Given the description of an element on the screen output the (x, y) to click on. 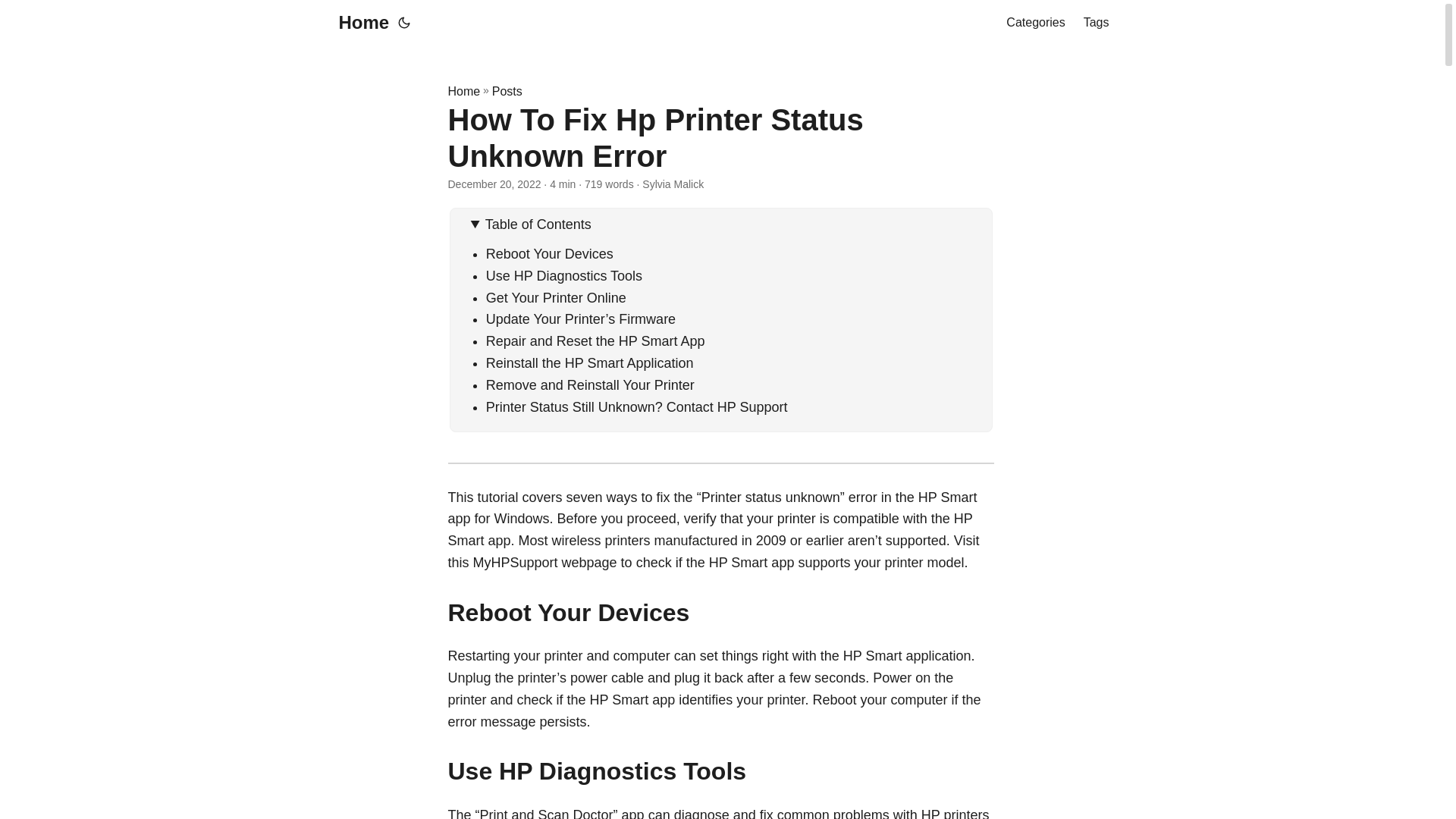
Remove and Reinstall Your Printer (590, 385)
Printer Status Still Unknown? Contact HP Support (636, 406)
Home (359, 22)
Categories (1035, 22)
Home (463, 91)
Use HP Diagnostics Tools (564, 275)
Repair and Reset the HP Smart App (595, 340)
Posts (507, 91)
Reboot Your Devices (549, 253)
Get Your Printer Online (556, 297)
